Given the description of an element on the screen output the (x, y) to click on. 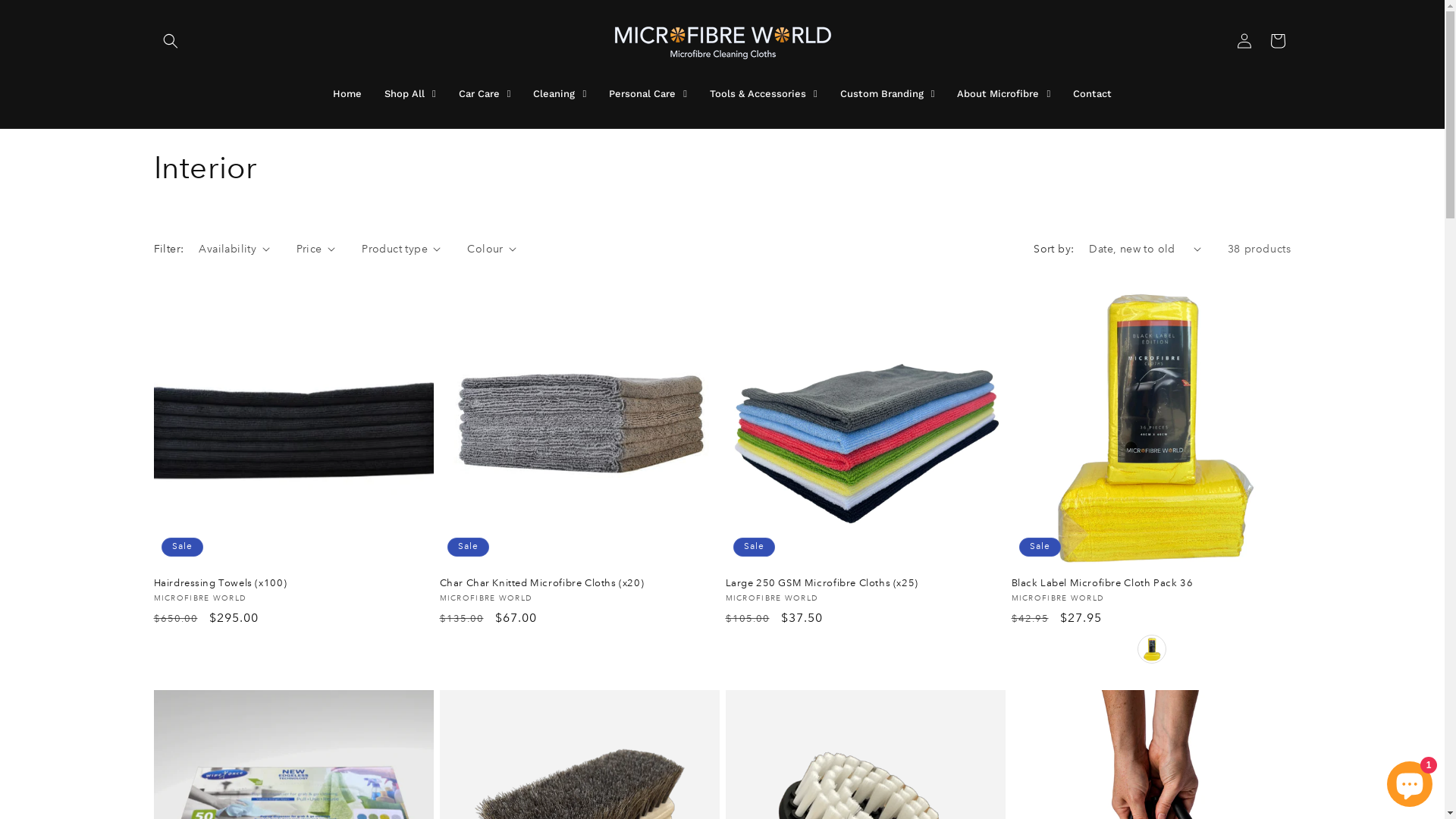
Home Element type: text (347, 93)
Char Char Knitted Microfibre Cloths (x20) Element type: text (579, 582)
Hairdressing Towels (x100) Element type: text (293, 582)
Log in Element type: text (1243, 40)
About Microfibre Element type: text (1003, 93)
Contact Element type: text (1092, 93)
Cart Element type: text (1276, 40)
Car Care Element type: text (484, 93)
Black Label Microfibre Cloth Pack 36 Element type: text (1151, 582)
Custom Branding Element type: text (887, 93)
Shop All Element type: text (410, 93)
Shopify online store chat Element type: hover (1409, 780)
Cleaning Element type: text (559, 93)
Personal Care Element type: text (647, 93)
Tools & Accessories Element type: text (763, 93)
Large 250 GSM Microfibre Cloths (x25) Element type: text (864, 582)
